Given the description of an element on the screen output the (x, y) to click on. 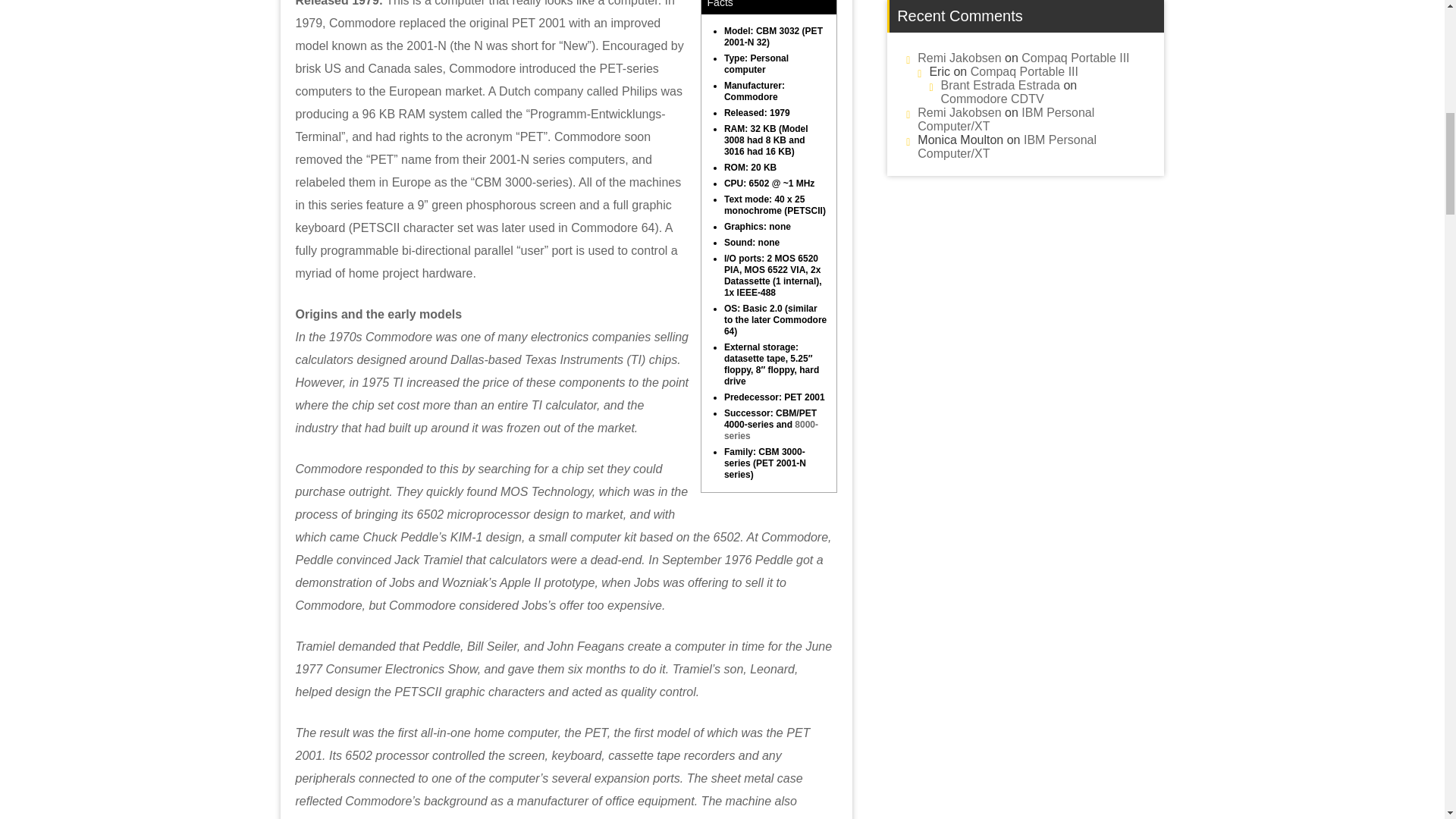
8000-series (770, 430)
